Given the description of an element on the screen output the (x, y) to click on. 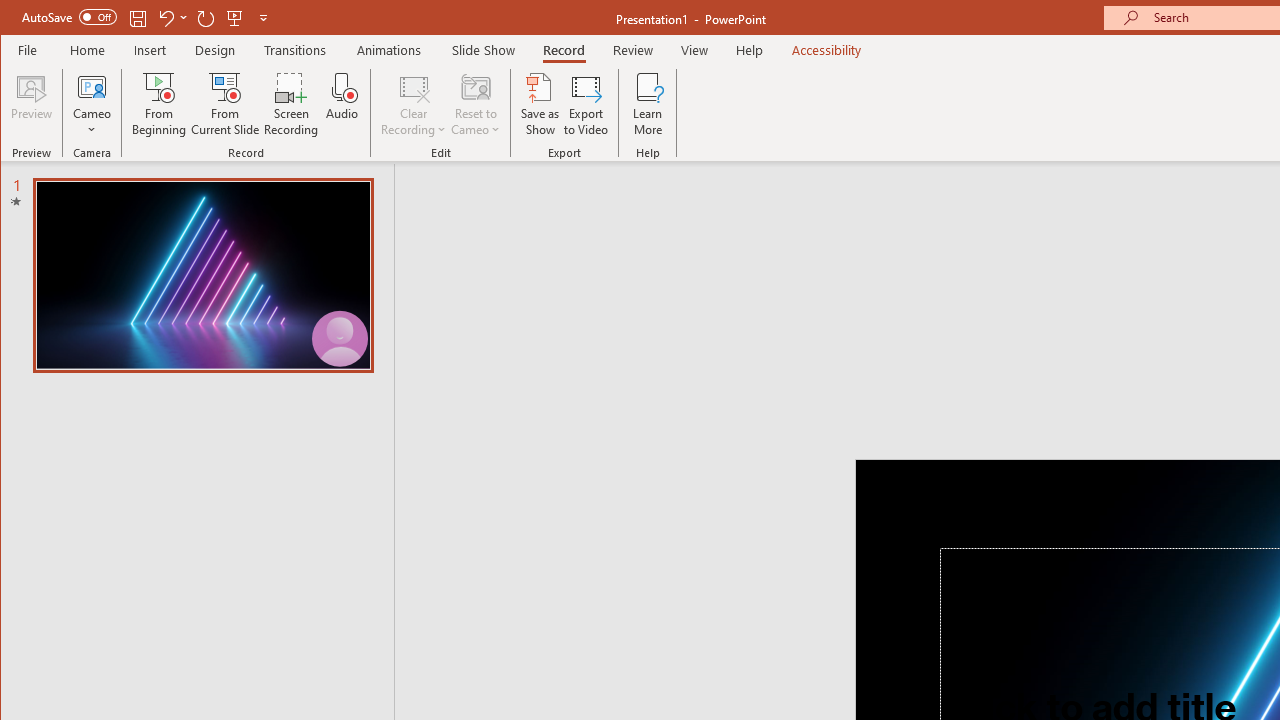
Reset to Cameo (476, 104)
Export to Video (585, 104)
From Current Slide... (225, 104)
Save as Show (539, 104)
Screen Recording (291, 104)
